Given the description of an element on the screen output the (x, y) to click on. 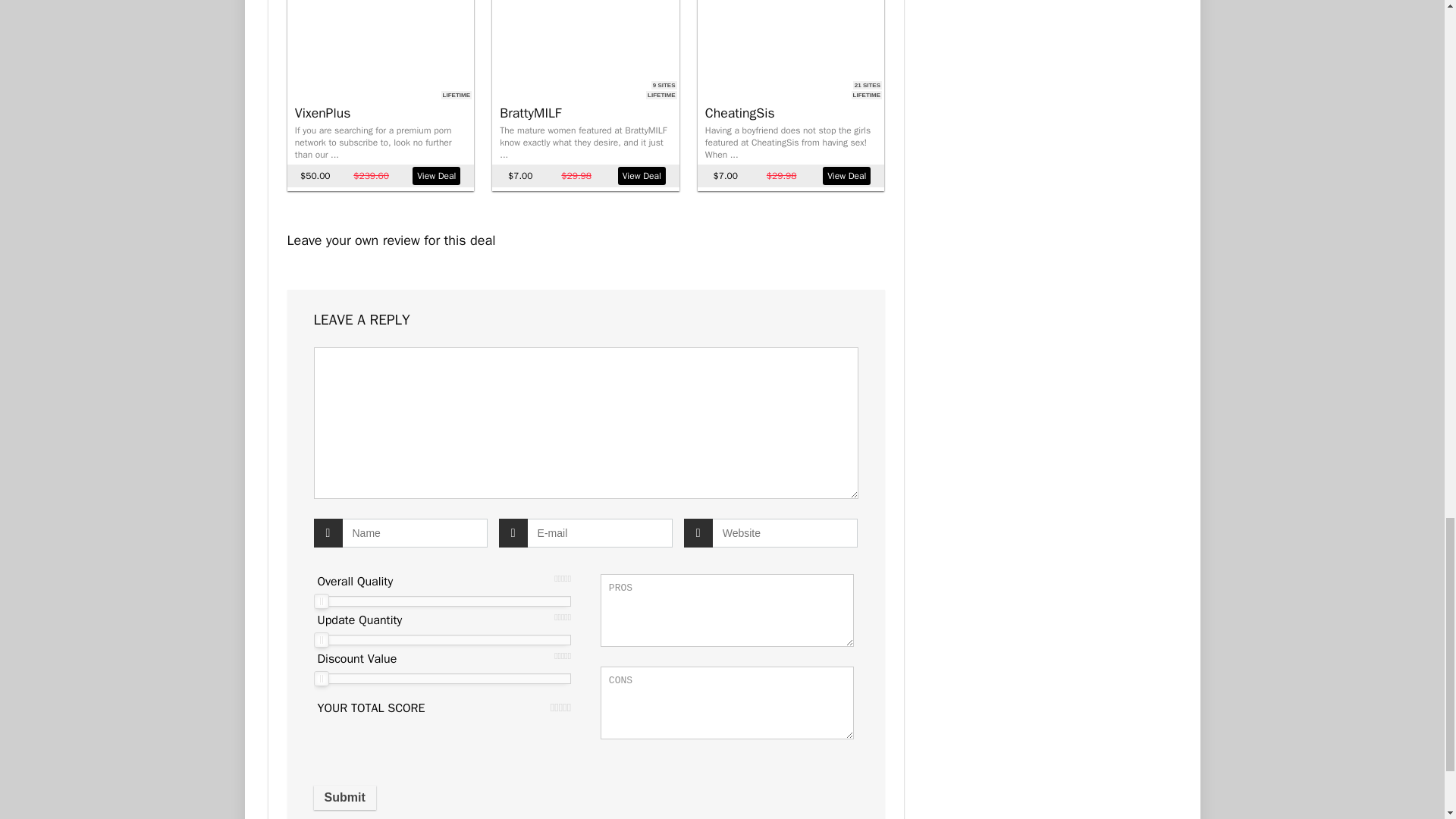
BrattyMILF (529, 112)
VixenPlus (322, 112)
Submit (344, 797)
View Deal (641, 176)
View Deal (436, 176)
Submit (344, 797)
View Deal (846, 176)
CheatingSis (739, 112)
